Given the description of an element on the screen output the (x, y) to click on. 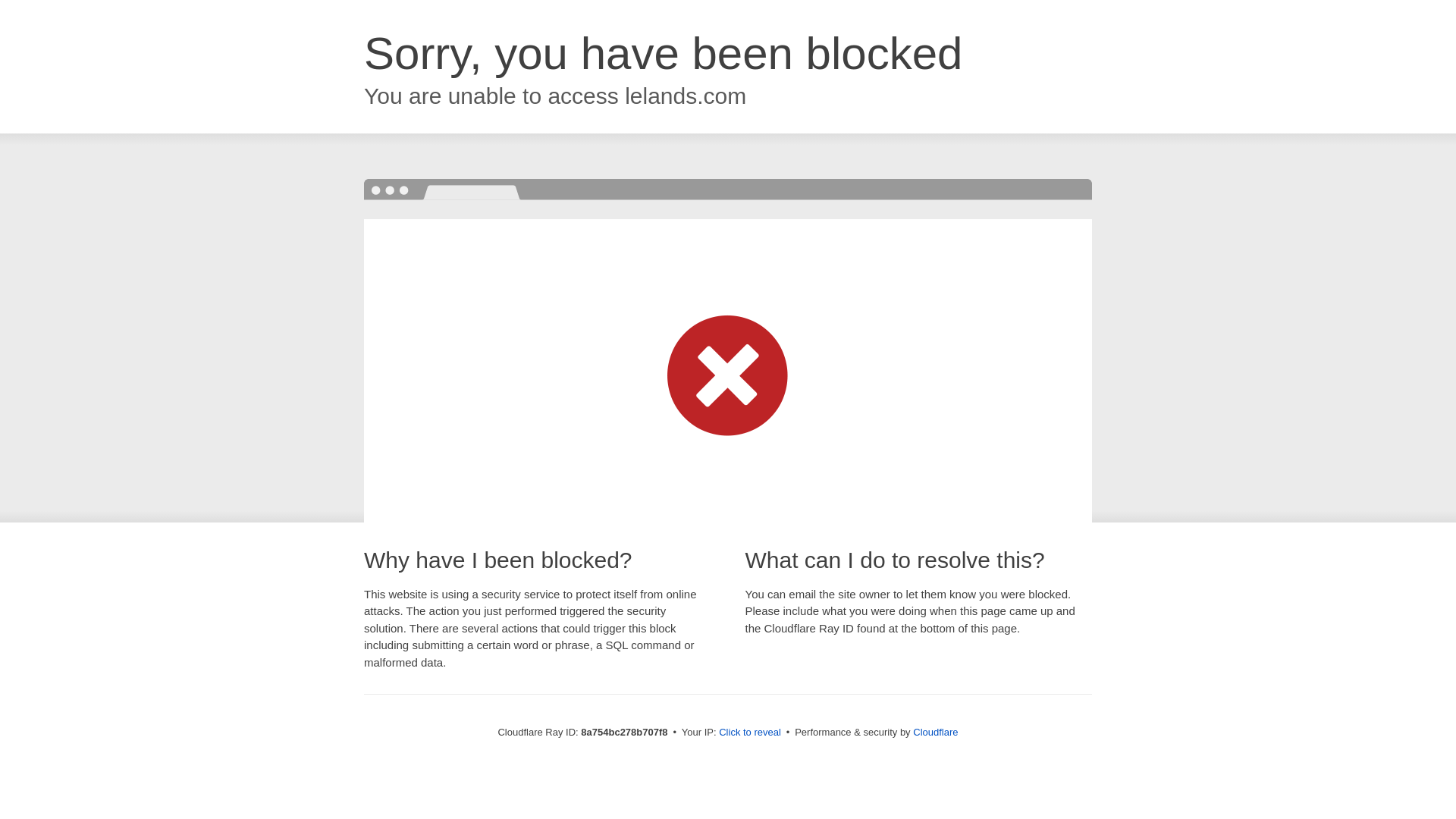
Cloudflare (935, 731)
Click to reveal (749, 732)
